Given the description of an element on the screen output the (x, y) to click on. 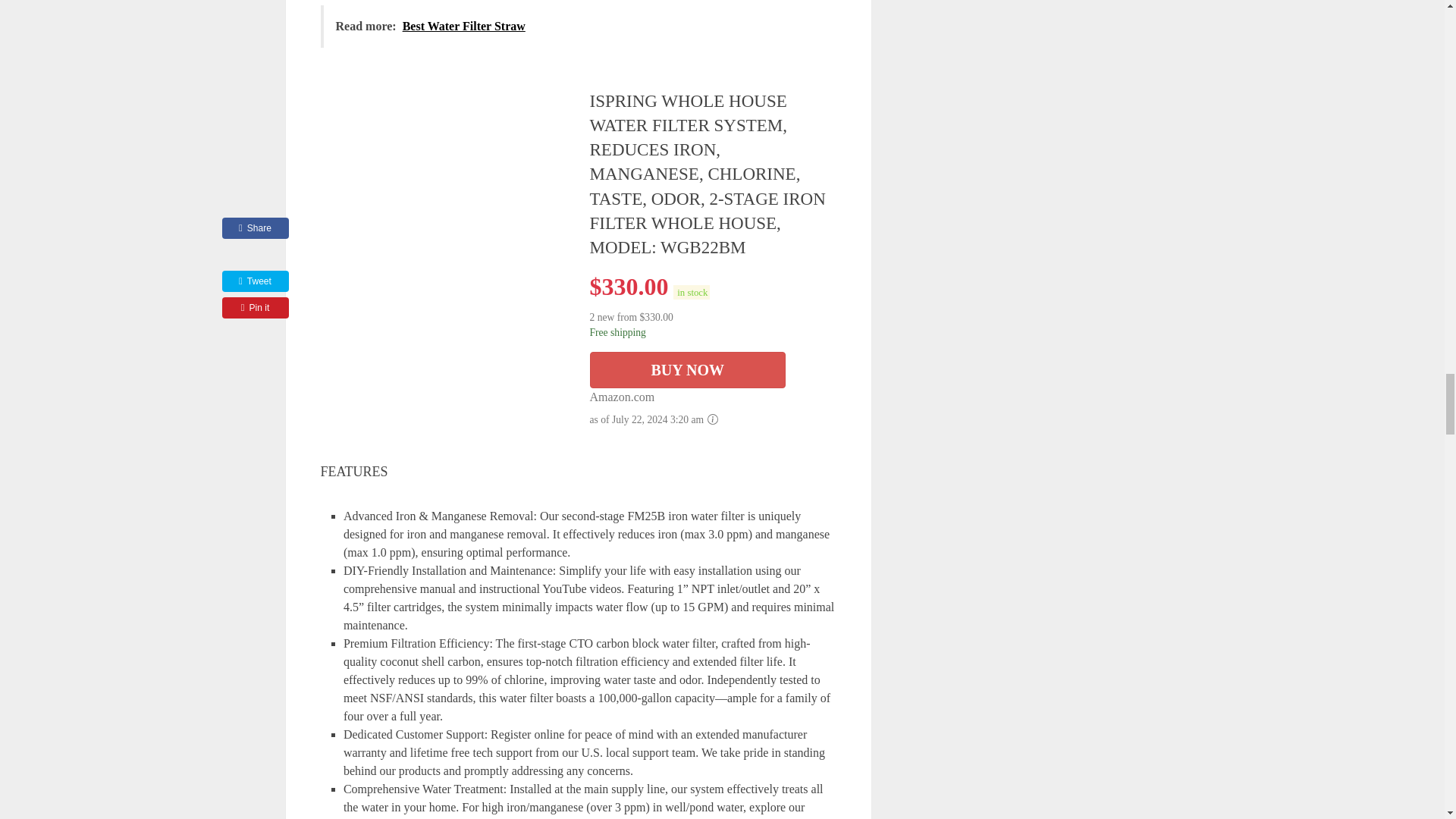
Last updated on July 22, 2024 3:20 am (691, 292)
